Given the description of an element on the screen output the (x, y) to click on. 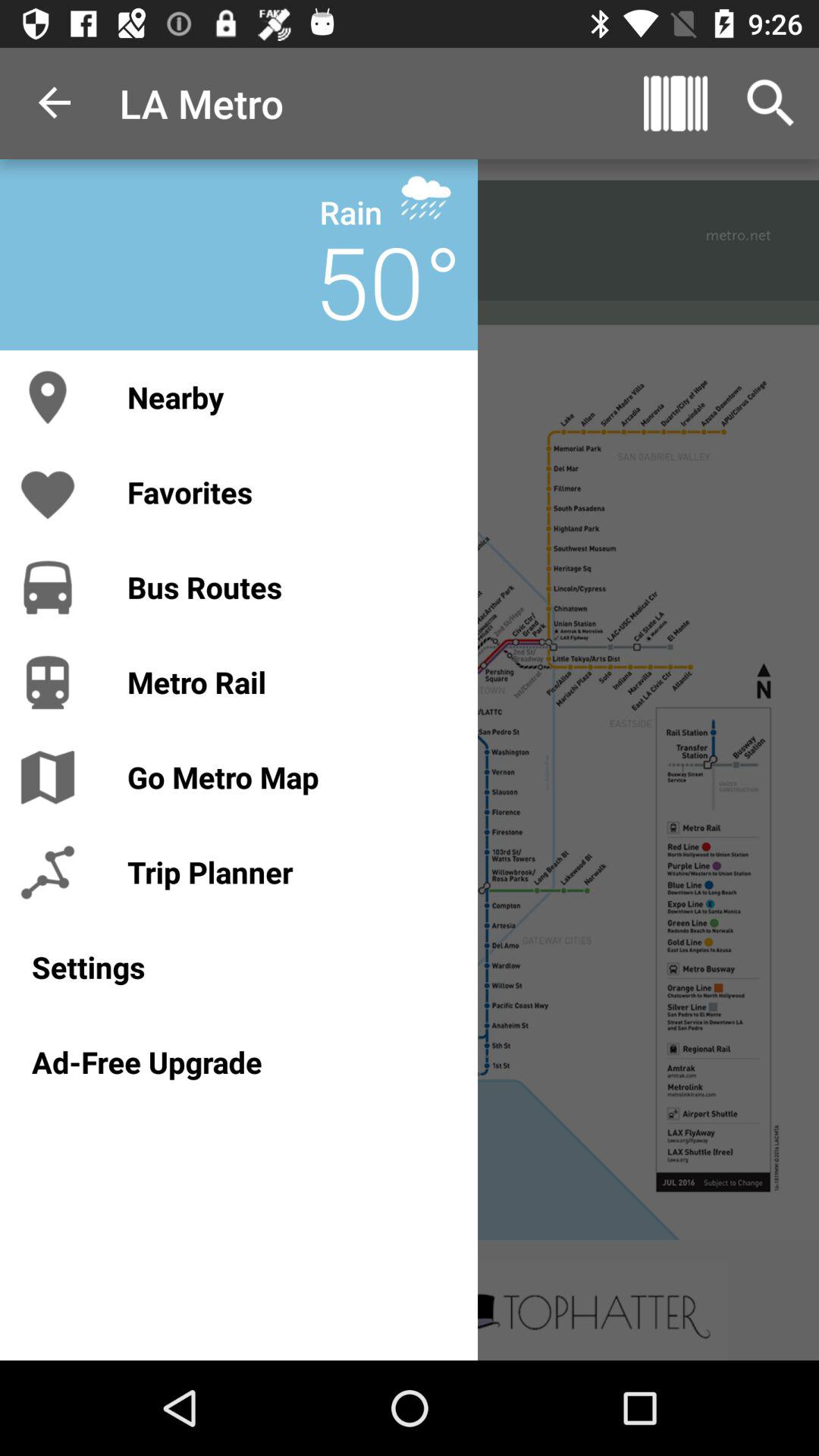
press item above the settings item (286, 871)
